Given the description of an element on the screen output the (x, y) to click on. 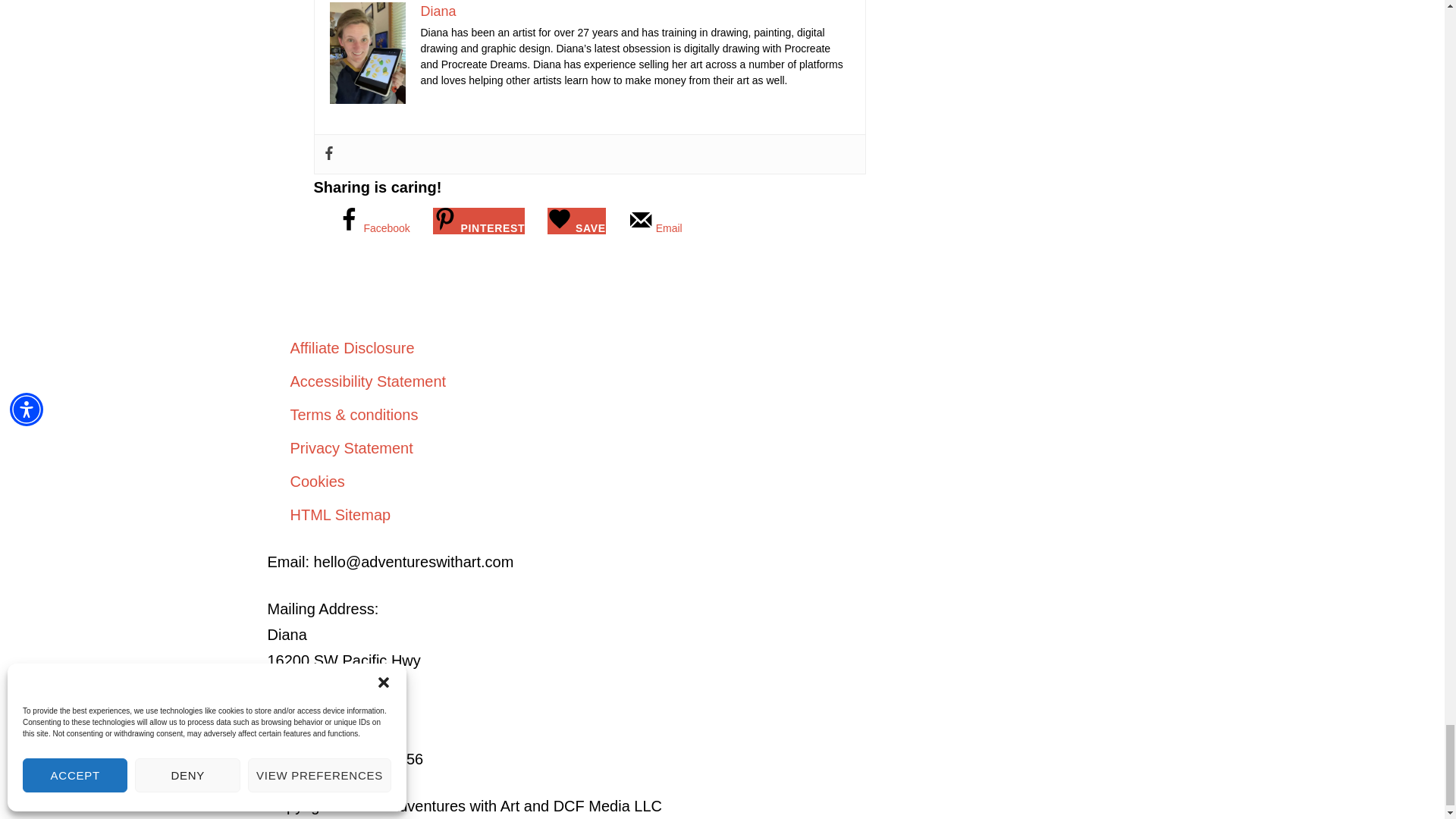
Share on Facebook (373, 227)
Save to Pinterest (478, 221)
Send over email (655, 227)
Save on Grow.me (576, 221)
